Given the description of an element on the screen output the (x, y) to click on. 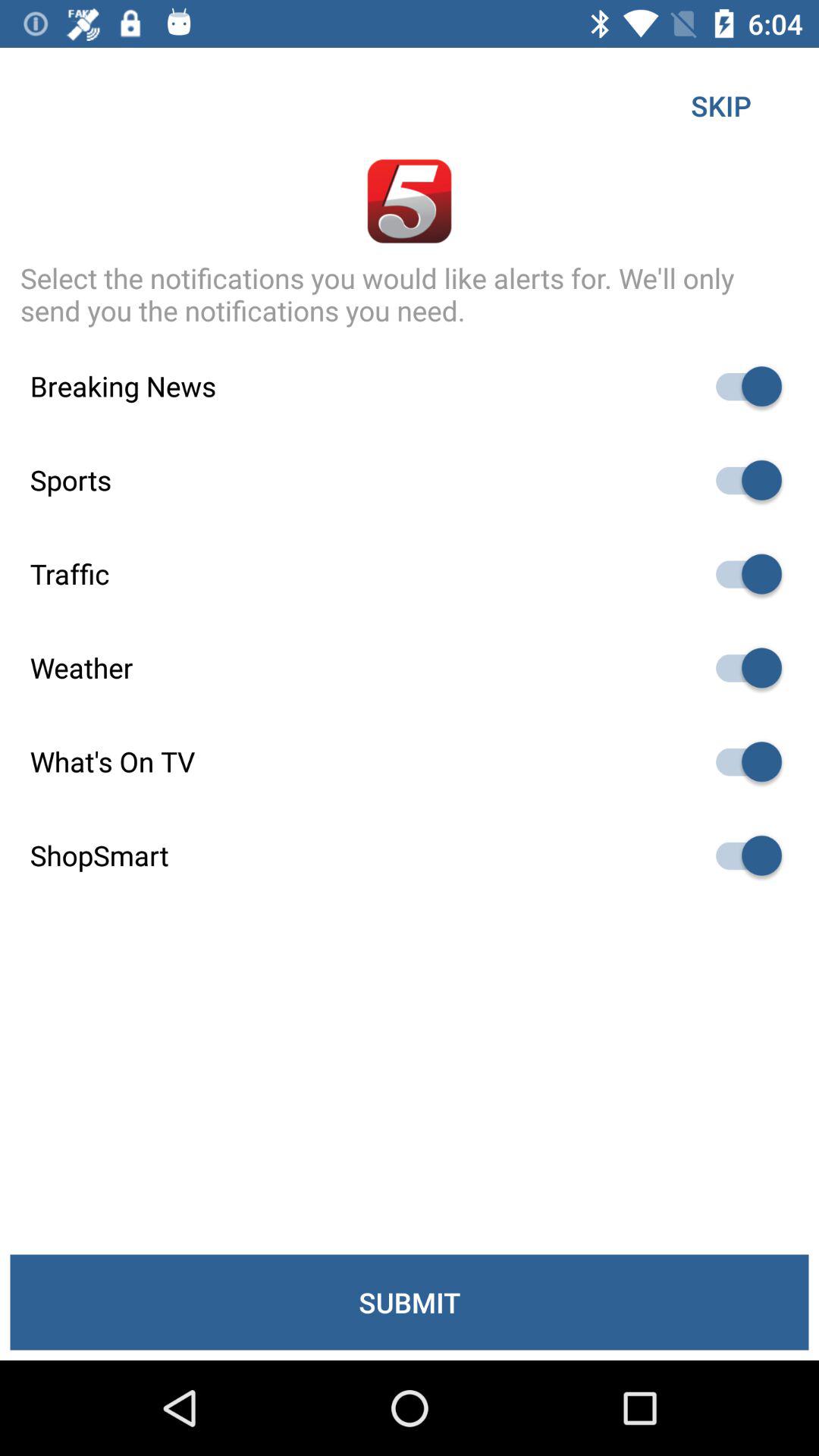
toggle autoplay option (741, 667)
